Given the description of an element on the screen output the (x, y) to click on. 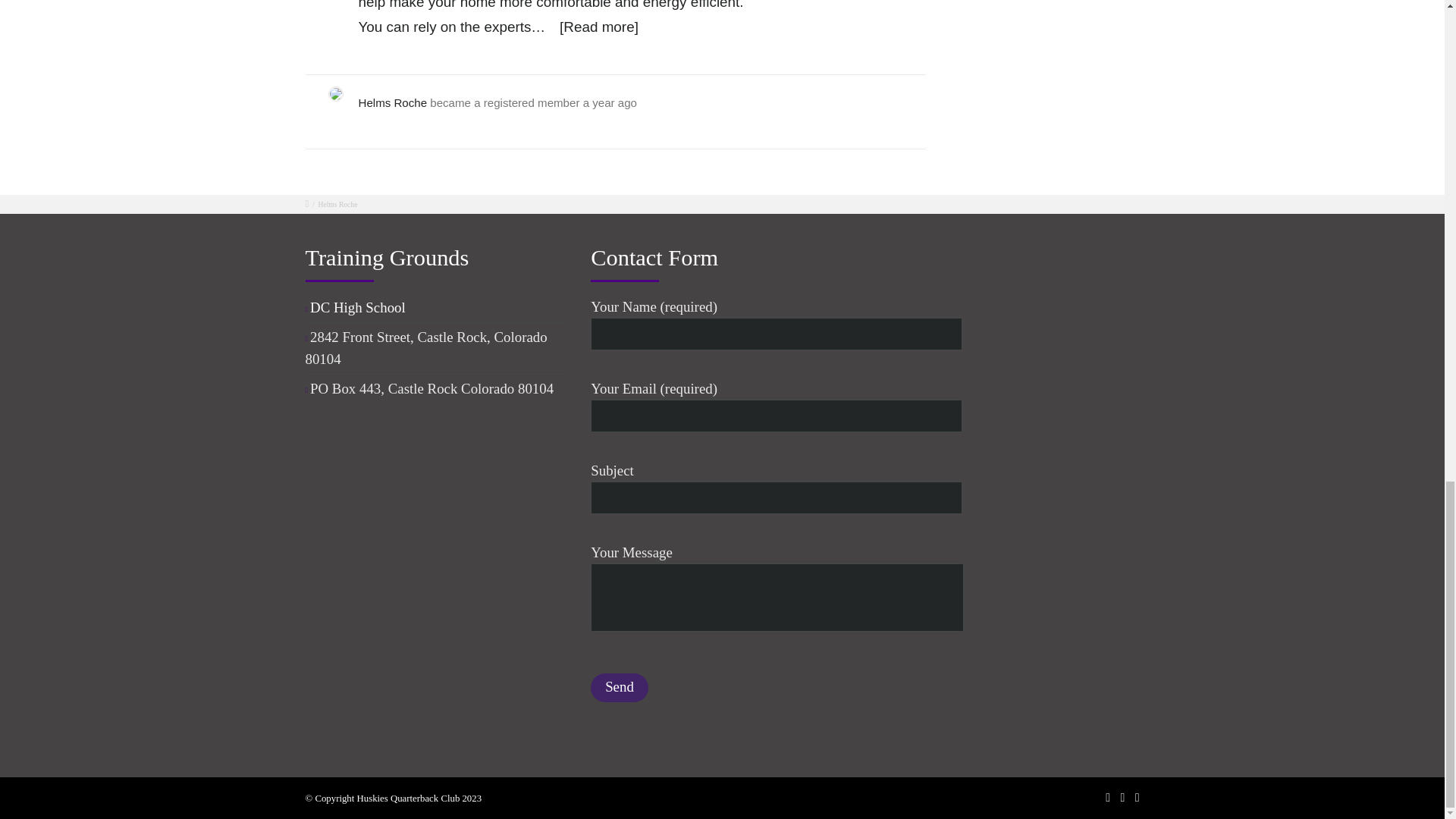
Send (619, 687)
